Given the description of an element on the screen output the (x, y) to click on. 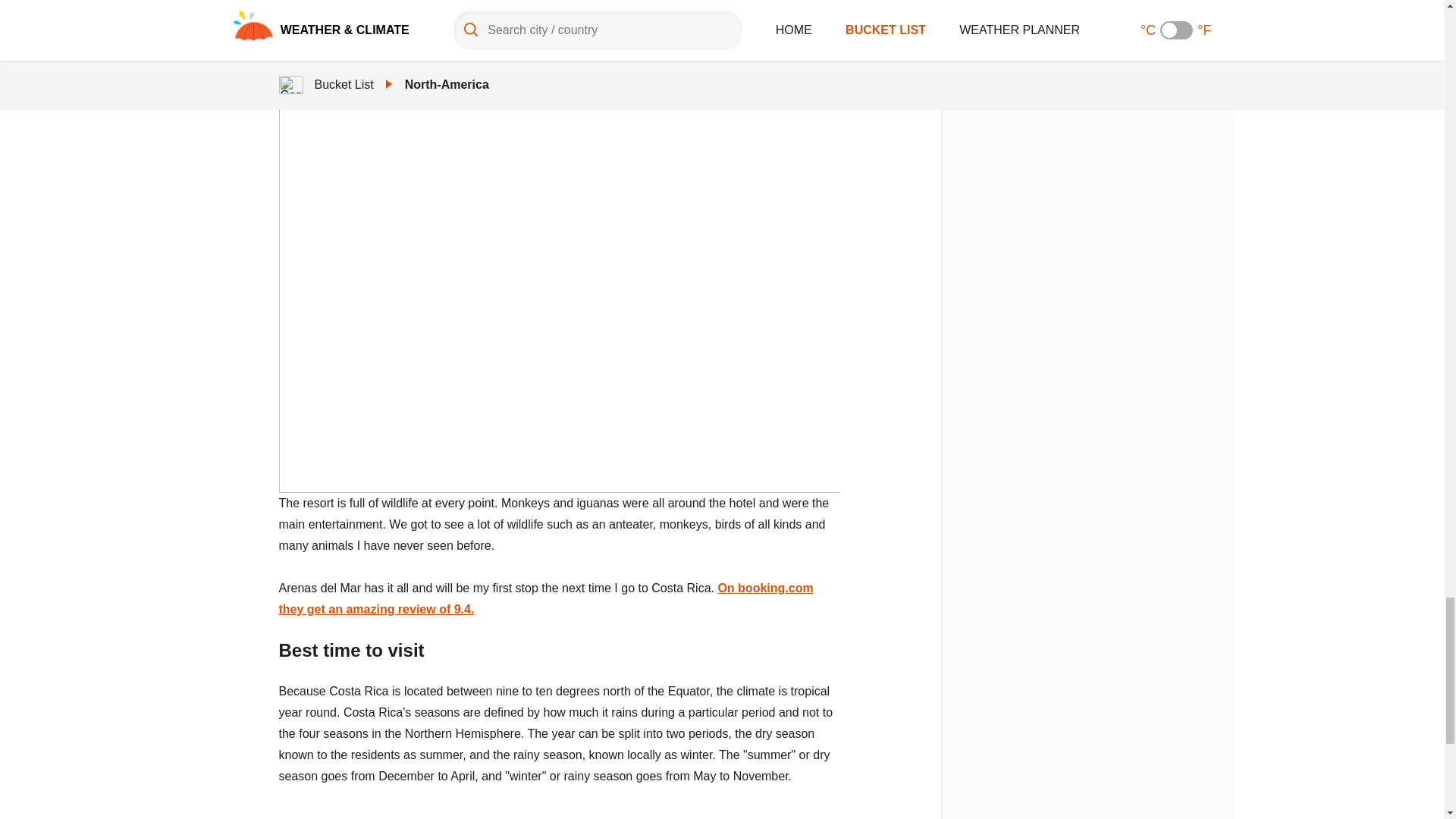
On booking.com they get an amazing review of 9.4. (546, 598)
